Given the description of an element on the screen output the (x, y) to click on. 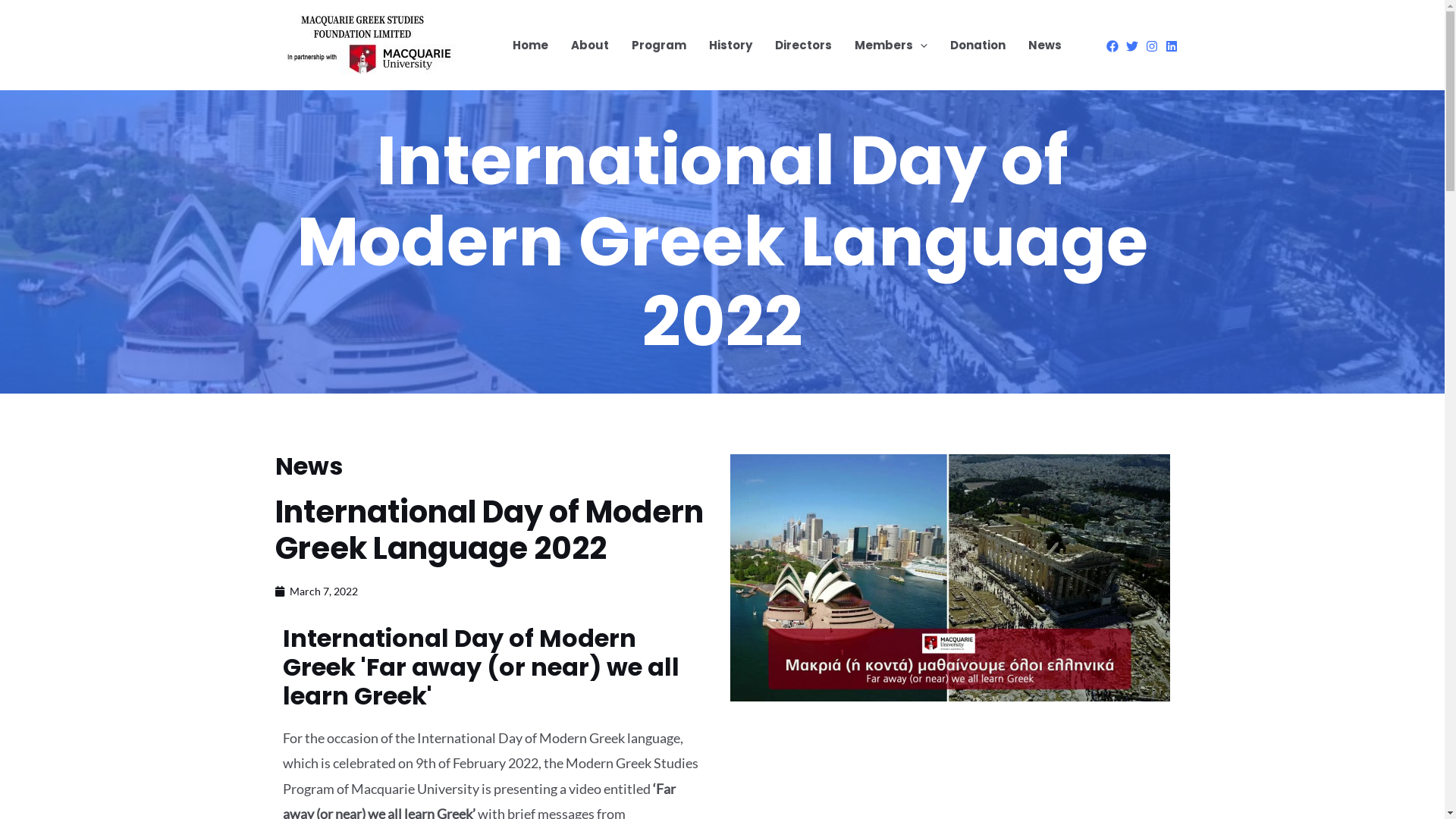
Members Element type: text (890, 45)
Directors Element type: text (802, 45)
Home Element type: text (529, 45)
Program Element type: text (658, 45)
News Element type: text (308, 465)
March 7, 2022 Element type: text (315, 591)
History Element type: text (730, 45)
About Element type: text (589, 45)
Donation Element type: text (977, 45)
News Element type: text (1044, 45)
